Given the description of an element on the screen output the (x, y) to click on. 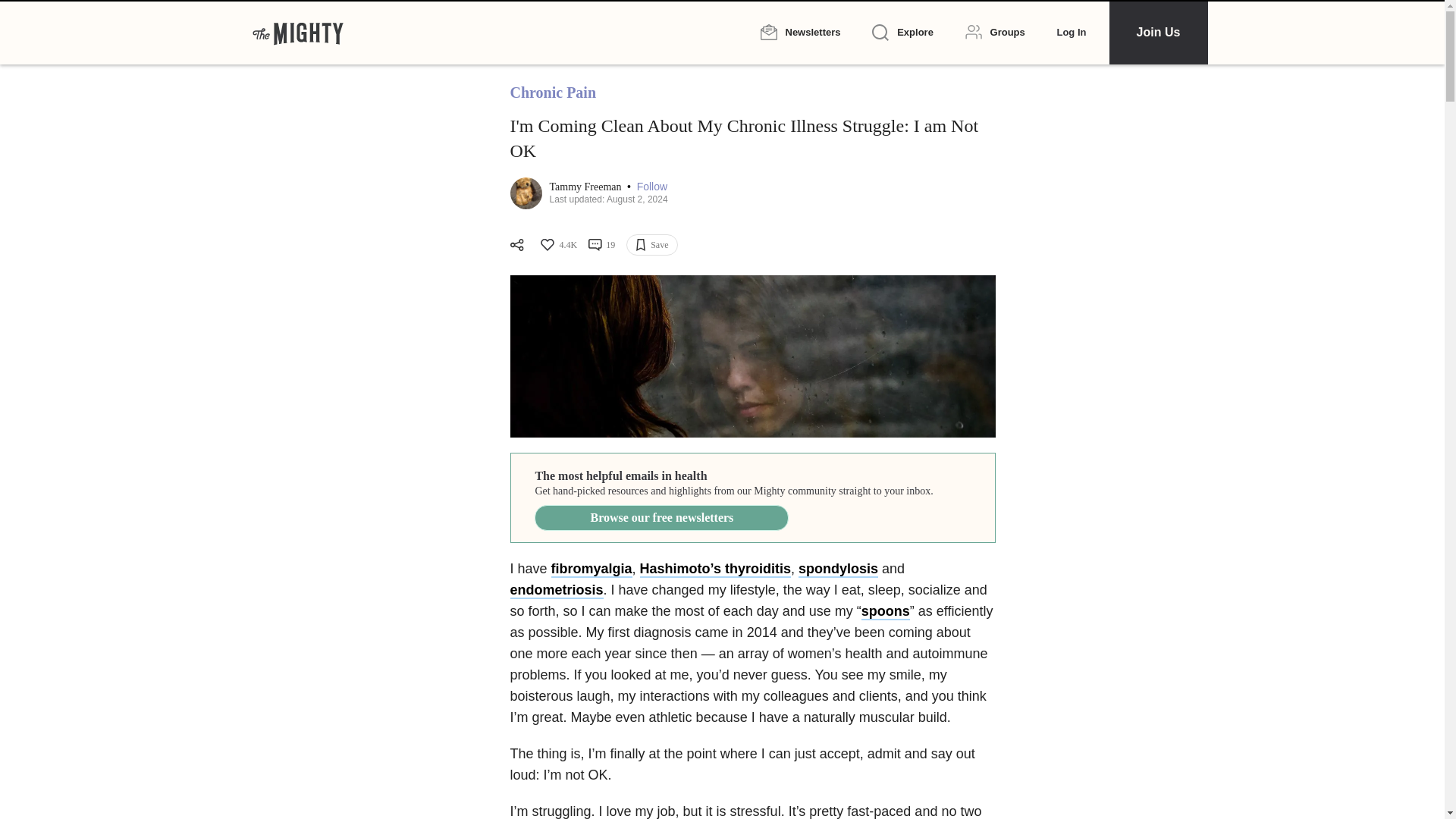
spoons (885, 611)
Join Us (1157, 32)
The Mighty (296, 32)
spondylosis (837, 569)
Groups (995, 32)
I Struggle With My Chronic Illnesses and I am Not OK (751, 356)
4.4K (557, 244)
Browse our free newsletters (661, 517)
Chronic Pain (552, 92)
Newsletters (800, 31)
